Given the description of an element on the screen output the (x, y) to click on. 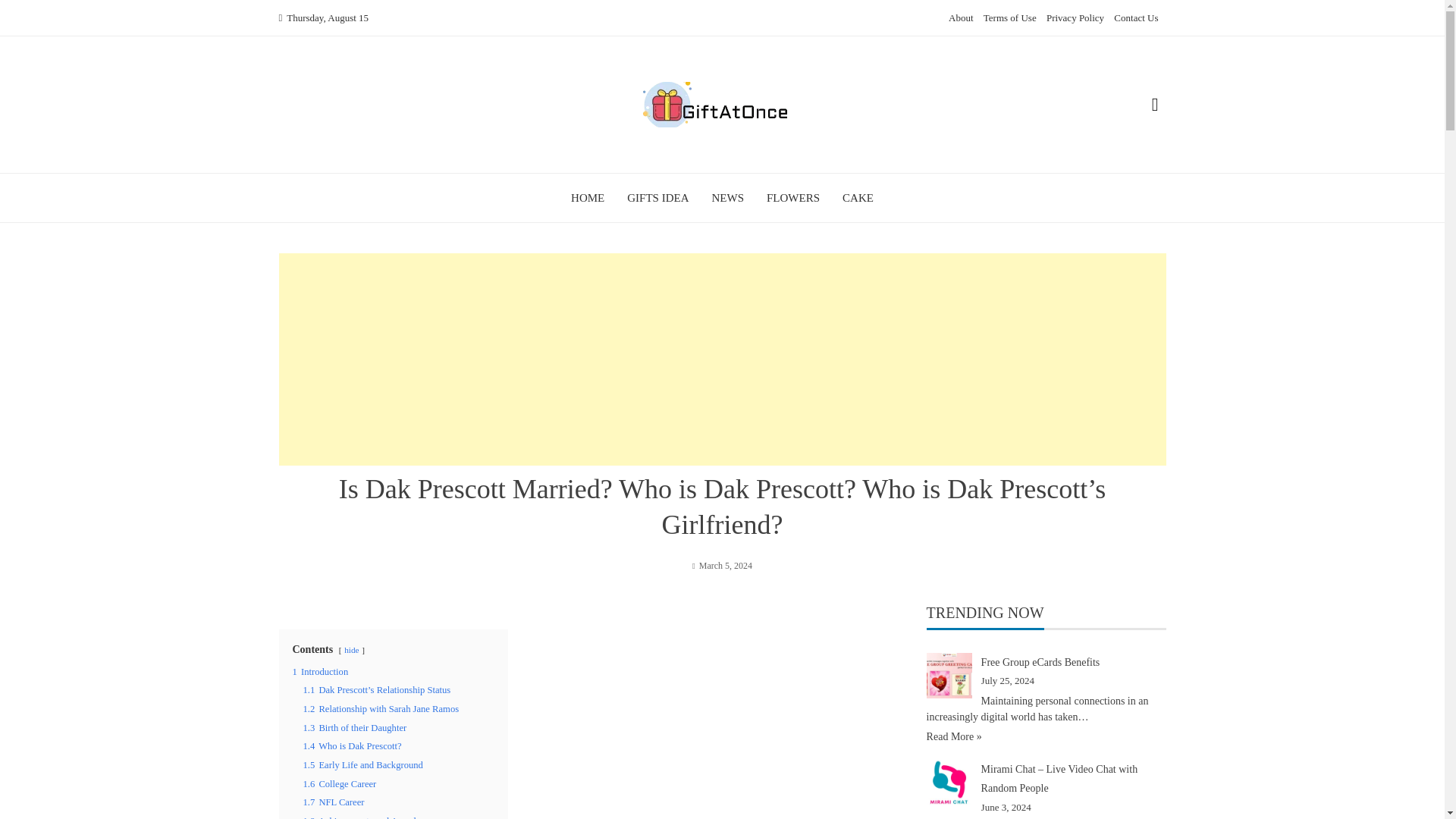
1.7 NFL Career (333, 801)
CAKE (858, 197)
1.2 Relationship with Sarah Jane Ramos (381, 708)
1.8 Achievements and Awards (361, 817)
1.4 Who is Dak Prescott? (351, 746)
HOME (587, 197)
1.3 Birth of their Daughter (354, 727)
NEWS (727, 197)
Terms of Use (1010, 17)
FLOWERS (793, 197)
